Given the description of an element on the screen output the (x, y) to click on. 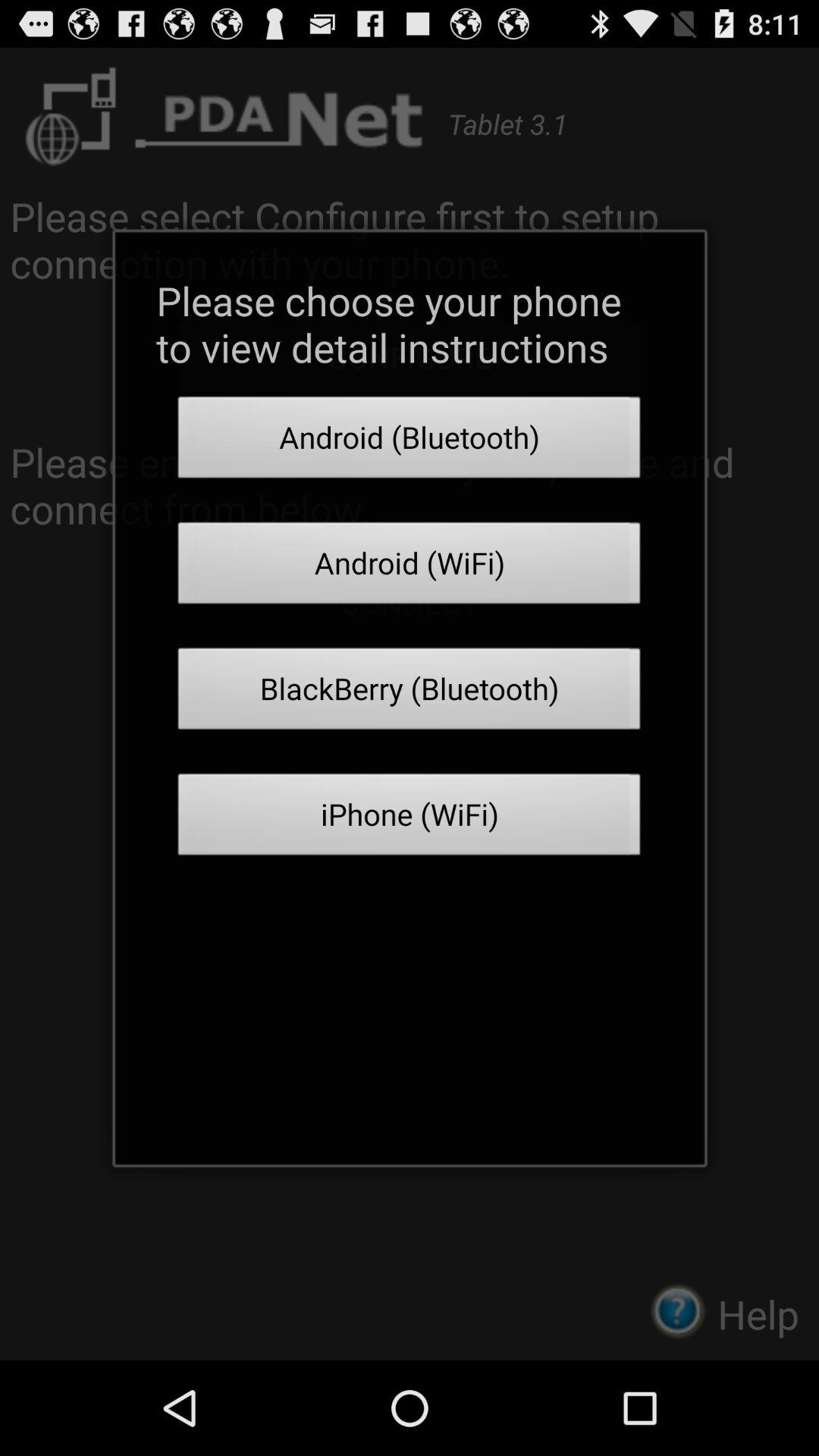
select blackberry (bluetooth) (409, 693)
